Given the description of an element on the screen output the (x, y) to click on. 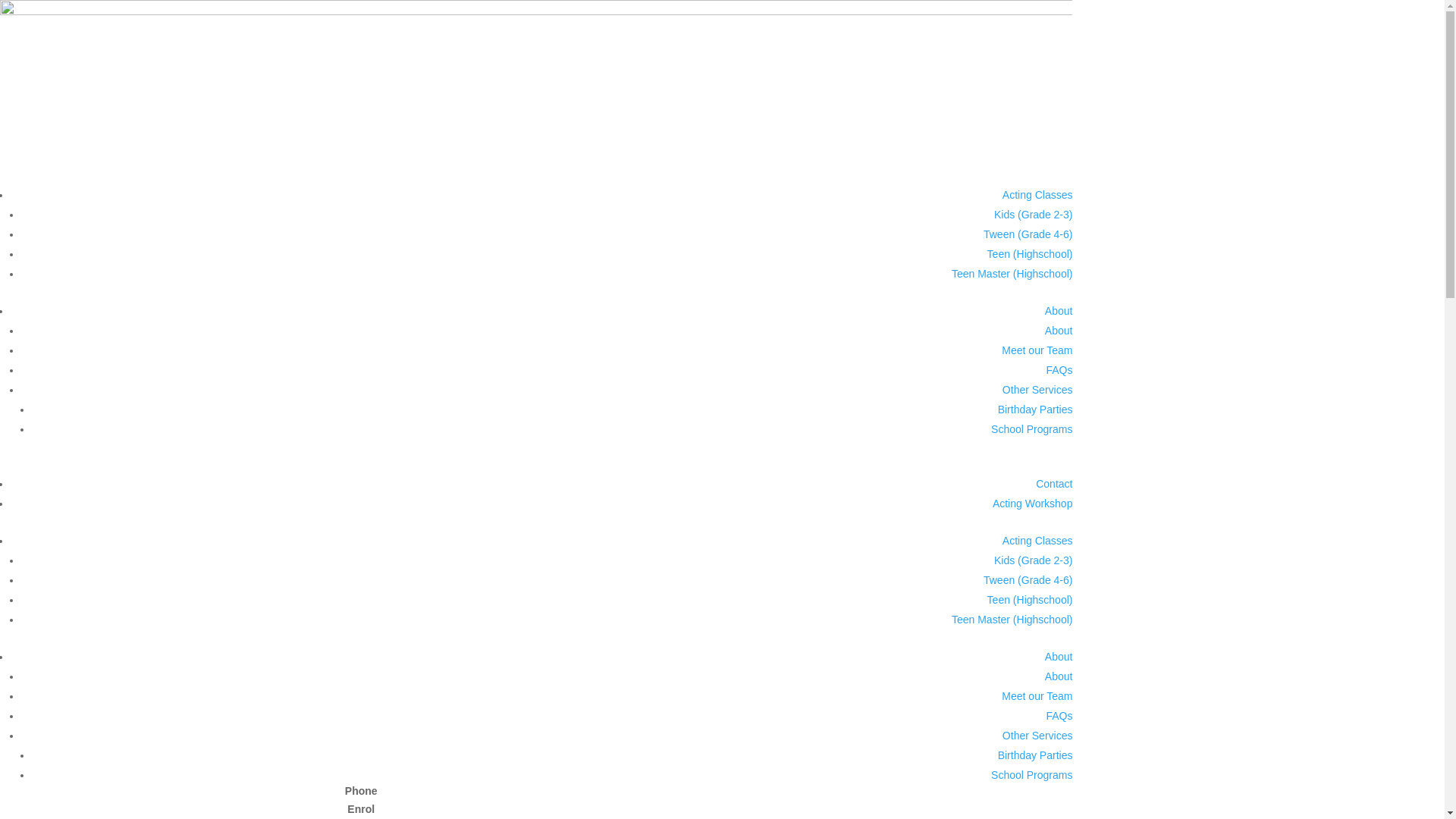
Contact Element type: text (1053, 483)
Kids (Grade 2-3) Element type: text (1033, 560)
Acting Workshop Element type: text (1032, 503)
About Element type: text (1058, 330)
Teen Master (Highschool) Element type: text (1012, 619)
Acting Classes Element type: text (1037, 194)
About Element type: text (1058, 310)
Other Services Element type: text (1037, 389)
Teen (Highschool) Element type: text (1030, 253)
Tween (Grade 4-6) Element type: text (1028, 234)
Tween (Grade 4-6) Element type: text (1028, 580)
School Programs Element type: text (1031, 774)
Teen (Highschool) Element type: text (1030, 599)
Birthday Parties Element type: text (1035, 409)
Meet our Team Element type: text (1036, 696)
FAQs Element type: text (1058, 370)
Birthday Parties Element type: text (1035, 755)
Kids (Grade 2-3) Element type: text (1033, 214)
Acting Classes Element type: text (1037, 540)
Teen Master (Highschool) Element type: text (1012, 273)
Other Services Element type: text (1037, 735)
About Element type: text (1058, 676)
About Element type: text (1058, 656)
Meet our Team Element type: text (1036, 350)
School Programs Element type: text (1031, 429)
FAQs Element type: text (1058, 715)
